Given the description of an element on the screen output the (x, y) to click on. 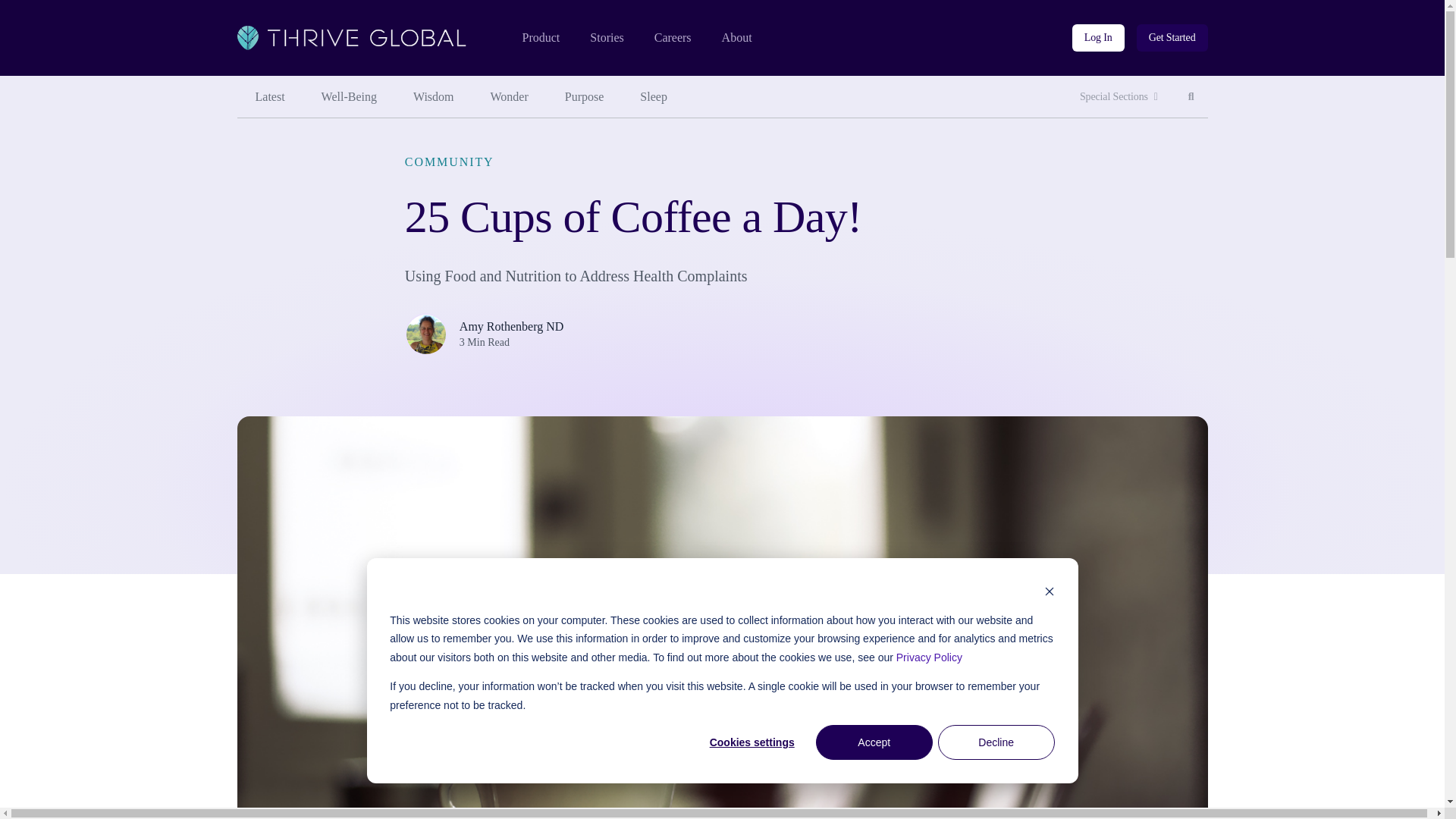
Product (540, 37)
Log In (1097, 37)
About (737, 37)
Wonder (509, 96)
Sleep (653, 96)
Get Started (1172, 37)
Latest (268, 96)
Careers (672, 37)
Well-Being (348, 96)
Special Sections (1118, 97)
Stories (606, 37)
Wisdom (432, 96)
Purpose (1191, 97)
